Given the description of an element on the screen output the (x, y) to click on. 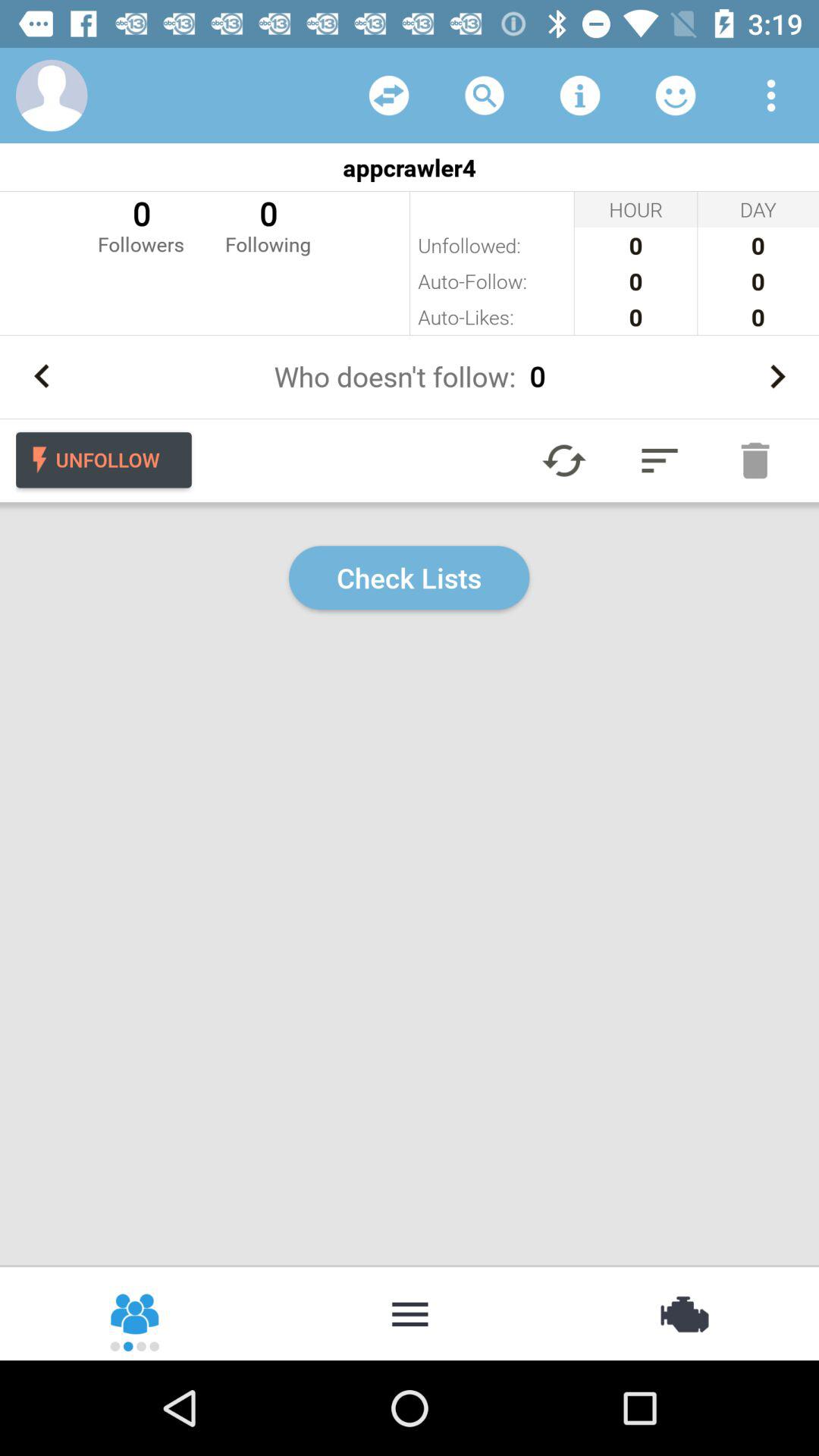
swipe to check lists (408, 577)
